Given the description of an element on the screen output the (x, y) to click on. 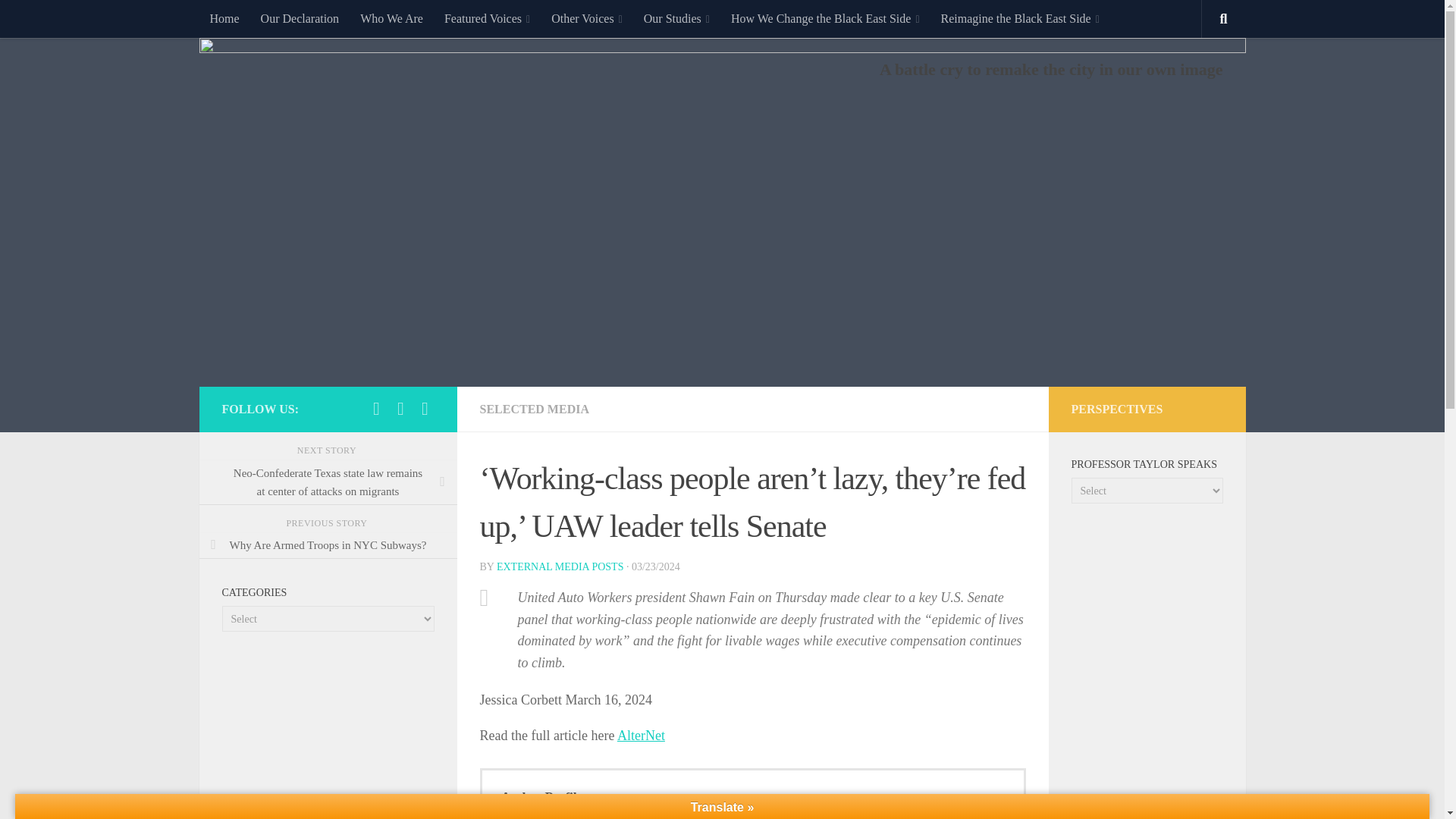
Home (223, 18)
Our Declaration (300, 18)
Follow us on Facebook (375, 408)
Posts by External Media Posts (560, 566)
How We Change the Black East Side (825, 18)
Follow us on Twitter (423, 408)
Skip to content (59, 20)
Featured Voices (486, 18)
Follow us on Instagram (400, 408)
Other Voices (586, 18)
